Given the description of an element on the screen output the (x, y) to click on. 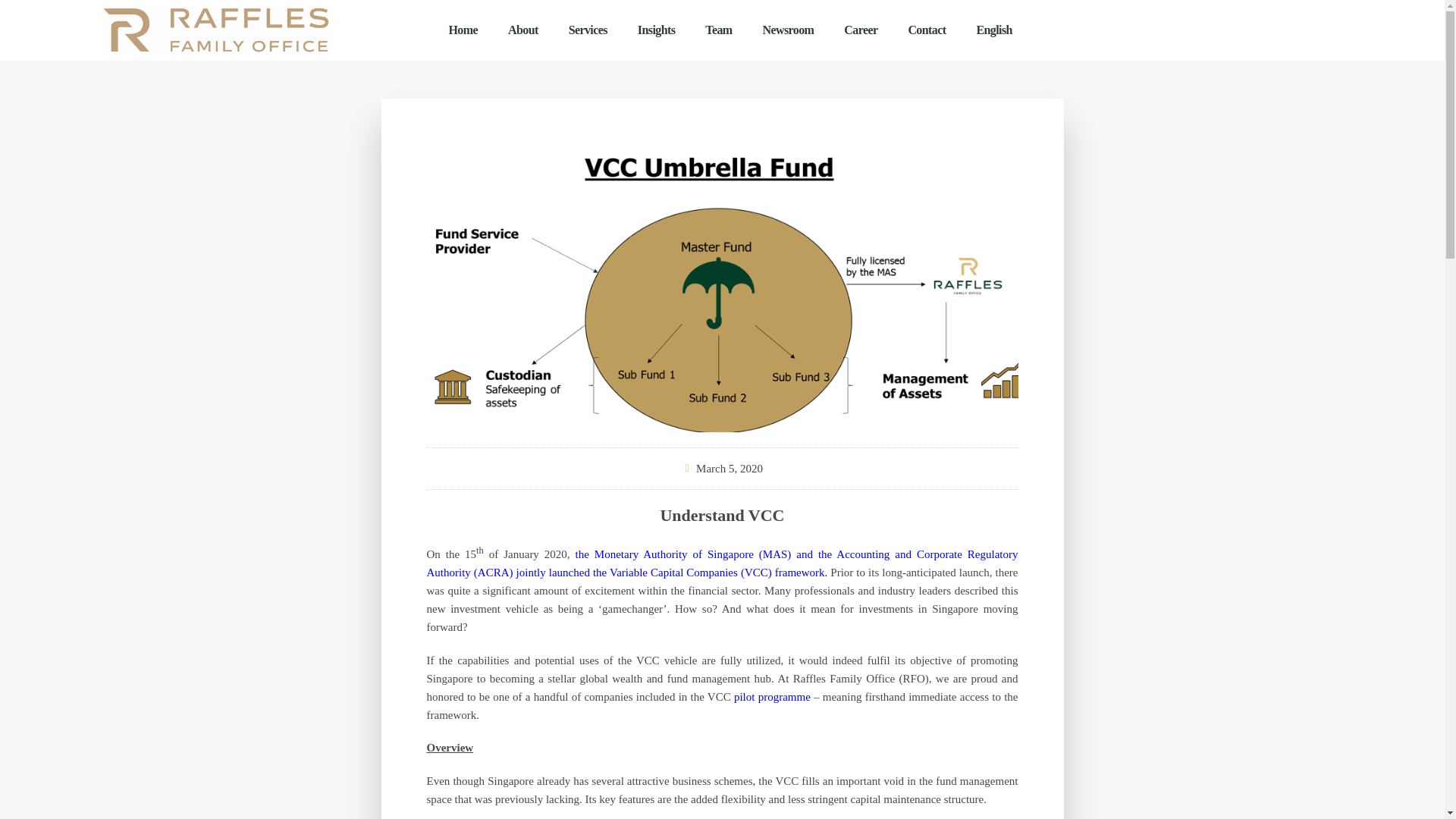
About (523, 30)
Home (463, 30)
English (993, 30)
English (993, 30)
Contact (926, 30)
Contact (926, 30)
About (523, 30)
Team (718, 30)
Team (718, 30)
Newsroom (788, 30)
Career (860, 30)
Career (860, 30)
Insights (656, 30)
Services (588, 30)
